Given the description of an element on the screen output the (x, y) to click on. 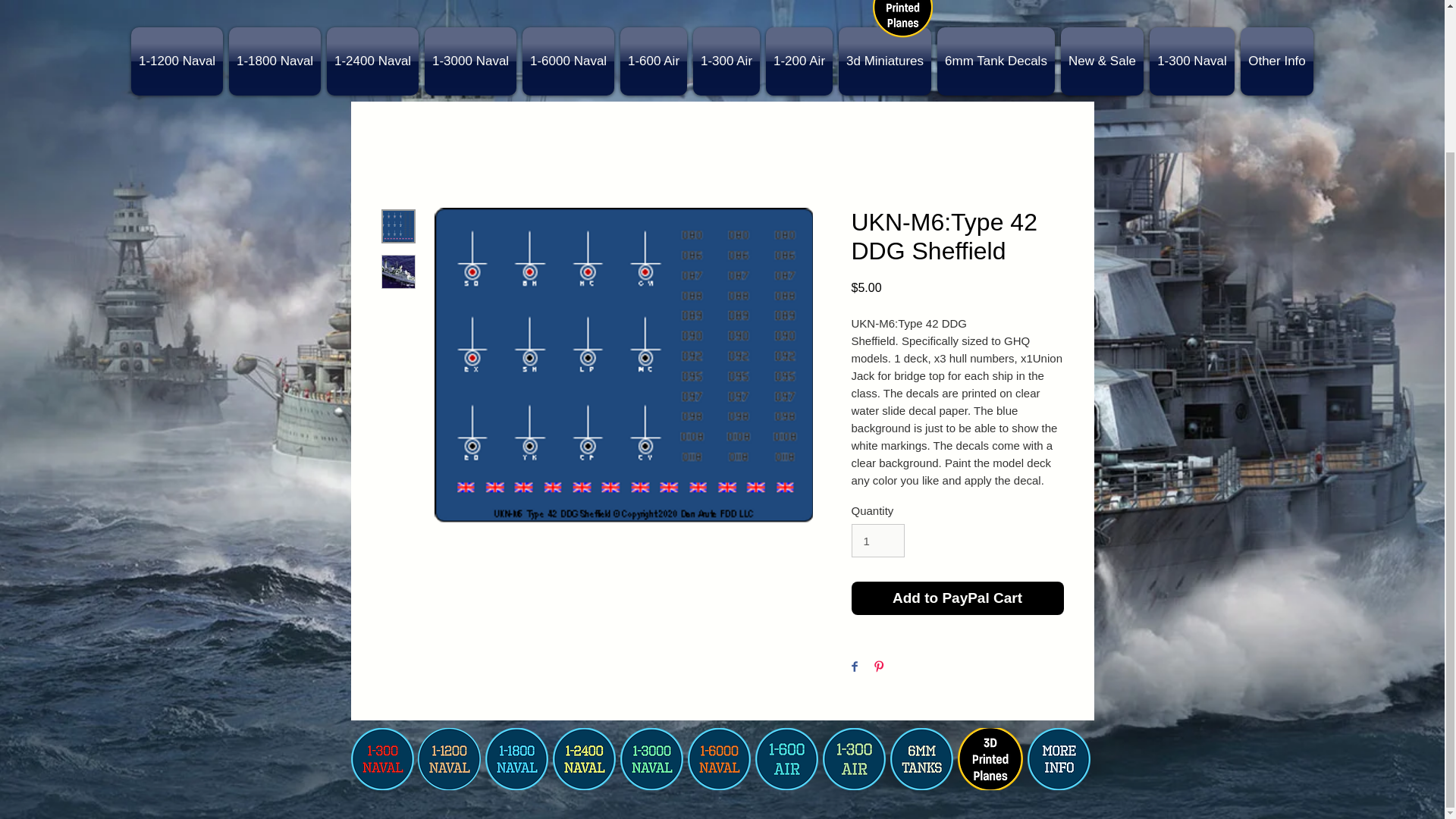
1-1800 Naval (274, 61)
1-2400 Naval (372, 61)
1-1200 Naval (176, 61)
1 (877, 540)
